Given the description of an element on the screen output the (x, y) to click on. 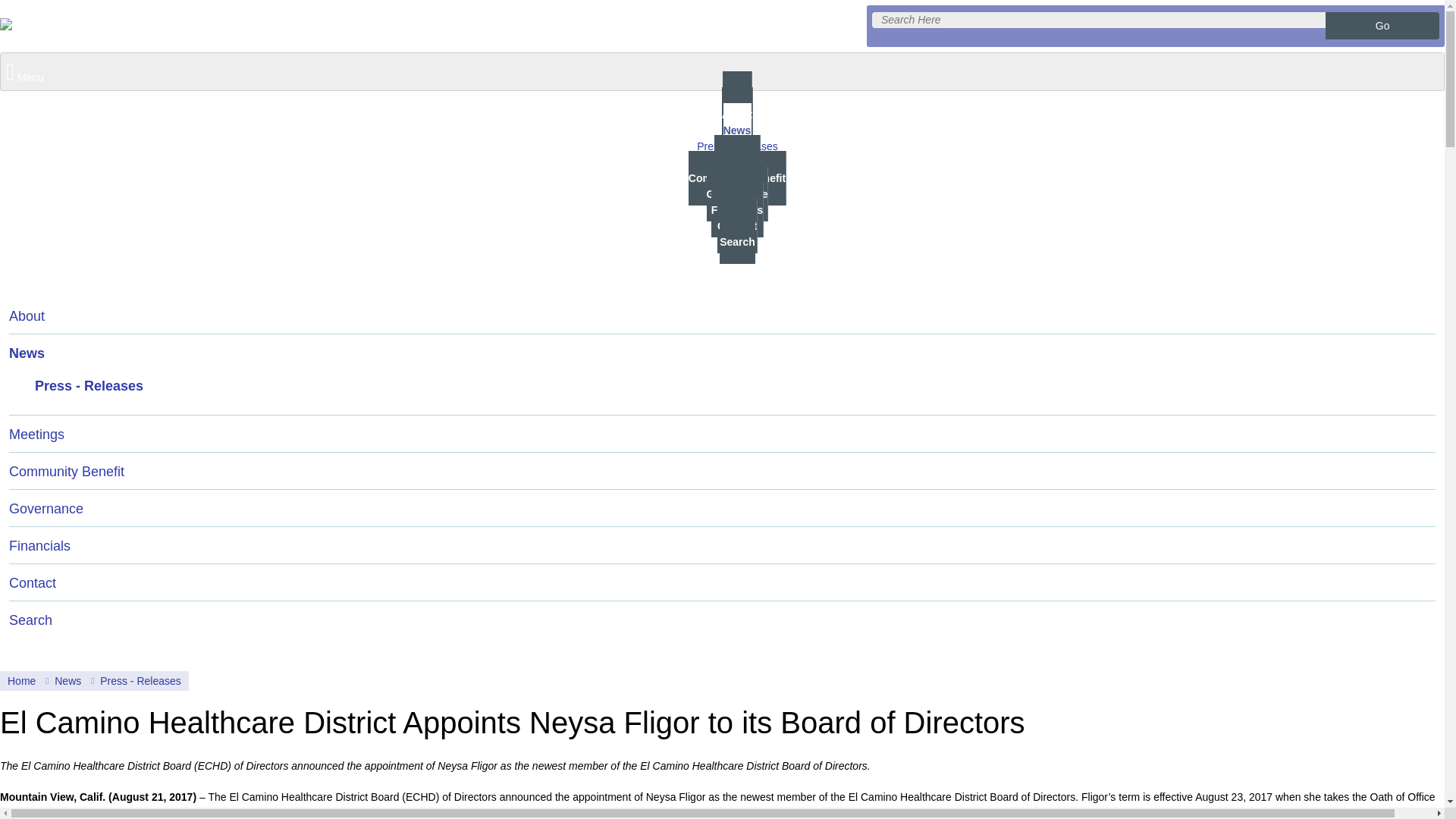
Community Benefit (737, 177)
Search (1381, 25)
Menu (722, 71)
Home (22, 680)
Meetings (721, 433)
Search (721, 619)
Financials (721, 545)
News (721, 352)
News (65, 680)
Press - Releases (737, 146)
